Given the description of an element on the screen output the (x, y) to click on. 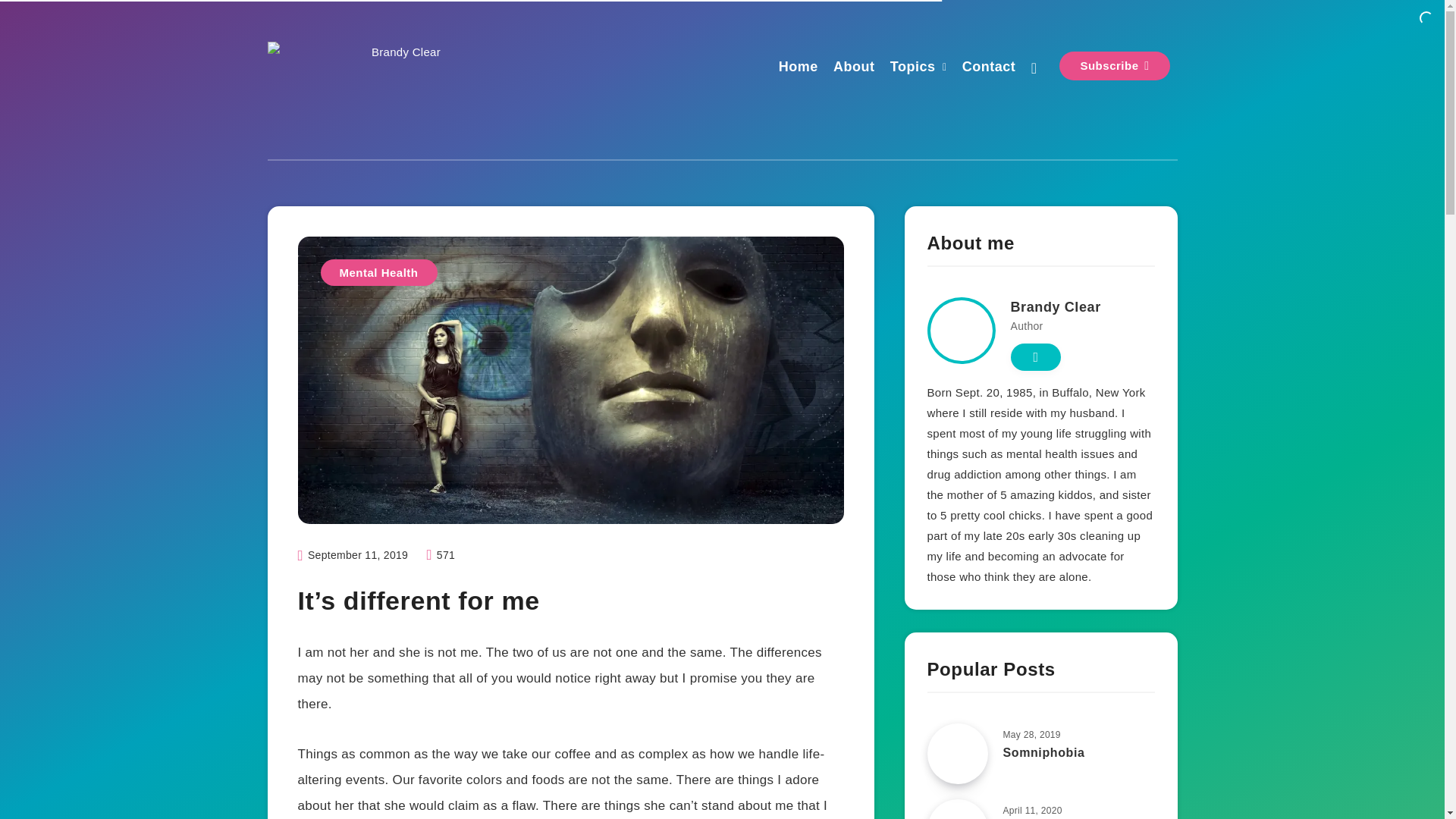
About (853, 68)
Somniphobia (1043, 754)
Subscribe (1114, 65)
Contact (989, 68)
Topics (912, 68)
Views (440, 554)
Mental Health (378, 272)
Brandy Clear (1055, 308)
Home (798, 68)
